Given the description of an element on the screen output the (x, y) to click on. 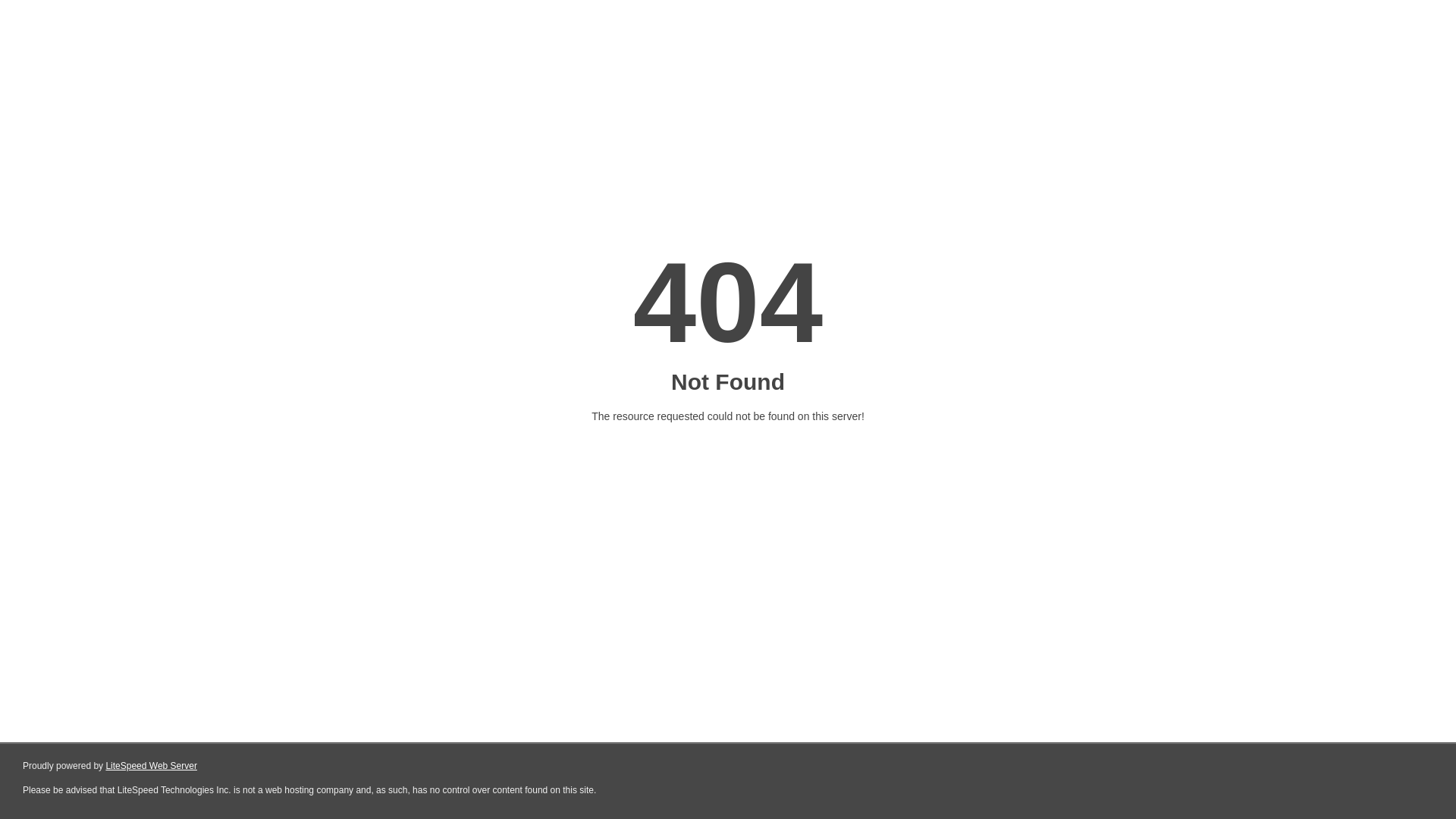
LiteSpeed Web Server Element type: text (151, 765)
